Given the description of an element on the screen output the (x, y) to click on. 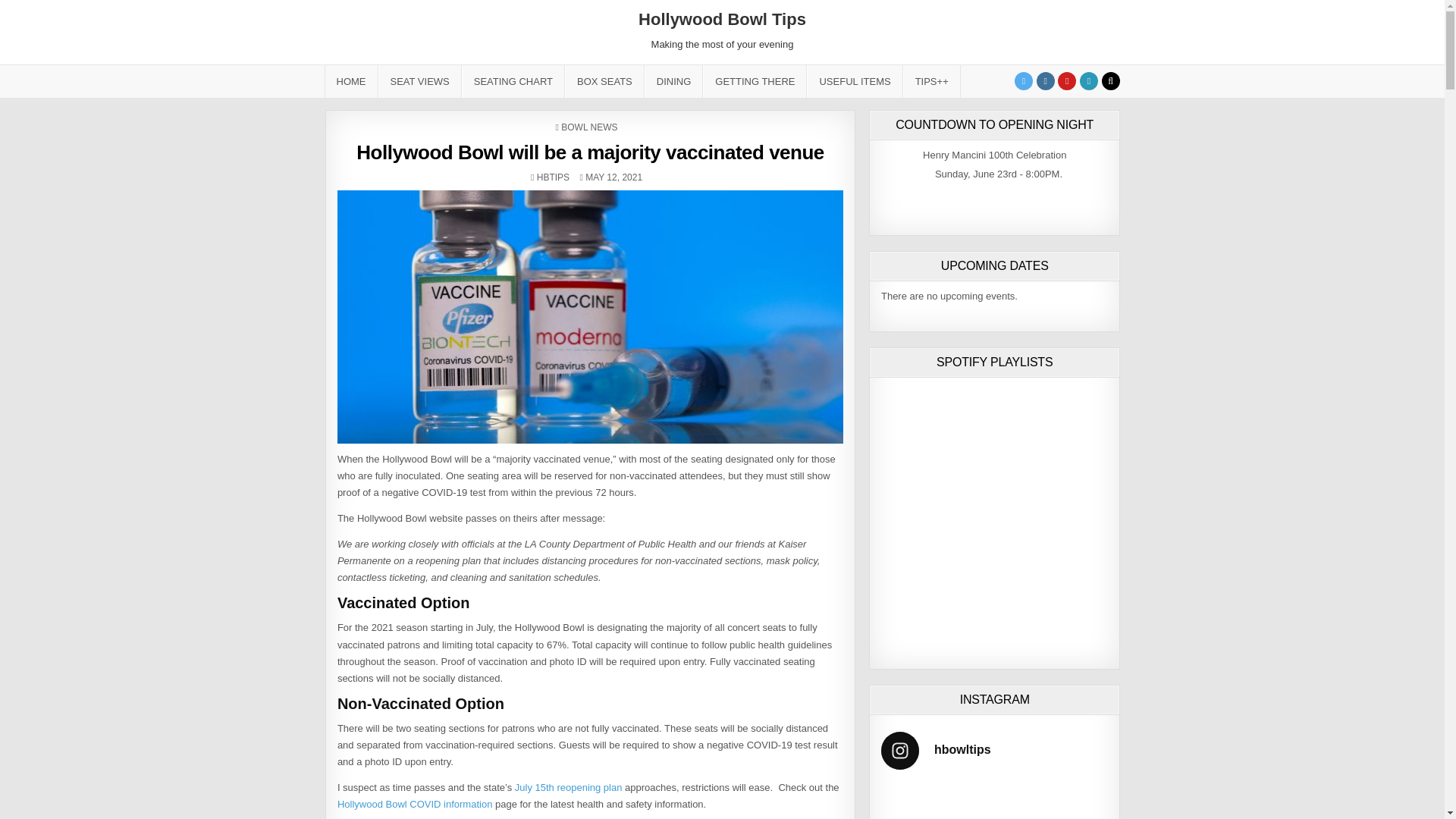
SEAT VIEWS (419, 81)
SEATING CHART (512, 81)
Hollywood Bowl Tips (722, 18)
GETTING THERE (754, 81)
July 15th reopening plan (569, 787)
Instagram (1045, 81)
HBTIPS (553, 176)
DINING (674, 81)
Youtube (1066, 81)
Hollywood Bowl will be a majority vaccinated venue (590, 151)
